Given the description of an element on the screen output the (x, y) to click on. 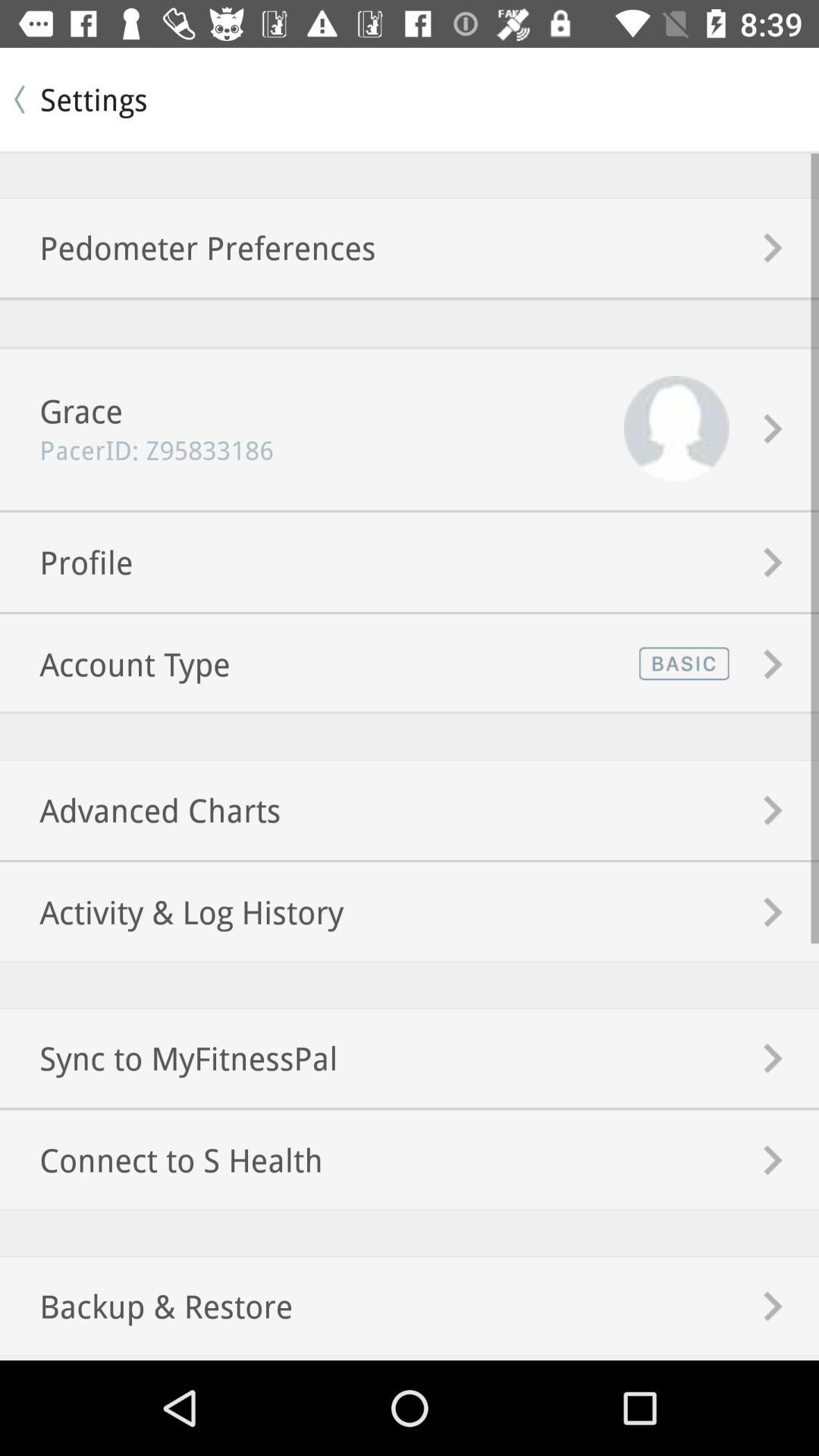
select the pedometer preferences (187, 247)
